Given the description of an element on the screen output the (x, y) to click on. 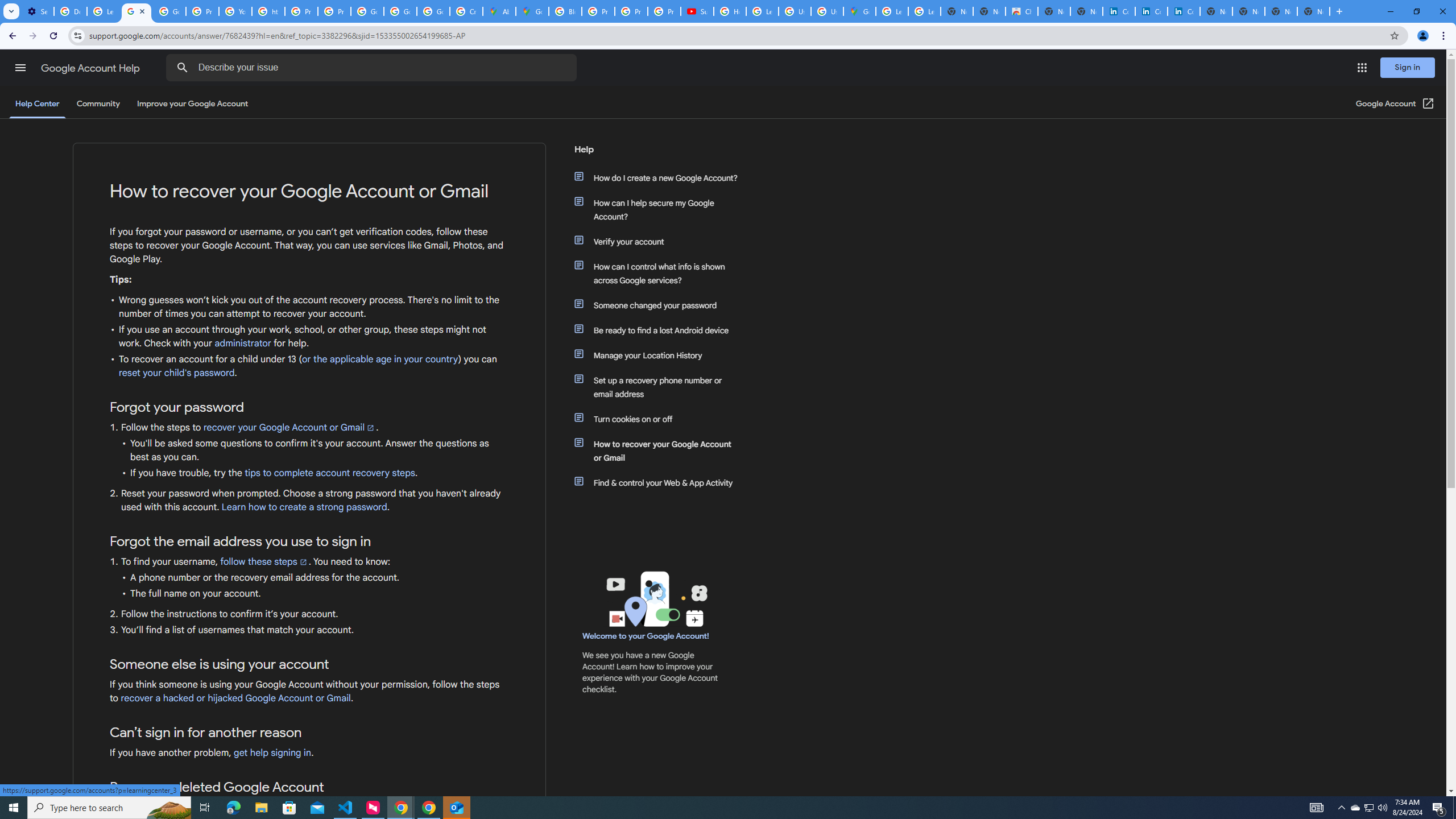
YouTube (235, 11)
Learning Center home page image (655, 598)
Learn how to create a strong password (304, 506)
Cookie Policy | LinkedIn (1118, 11)
Create your Google Account (465, 11)
recover a hacked or hijacked Google Account or Gmail (235, 698)
